Given the description of an element on the screen output the (x, y) to click on. 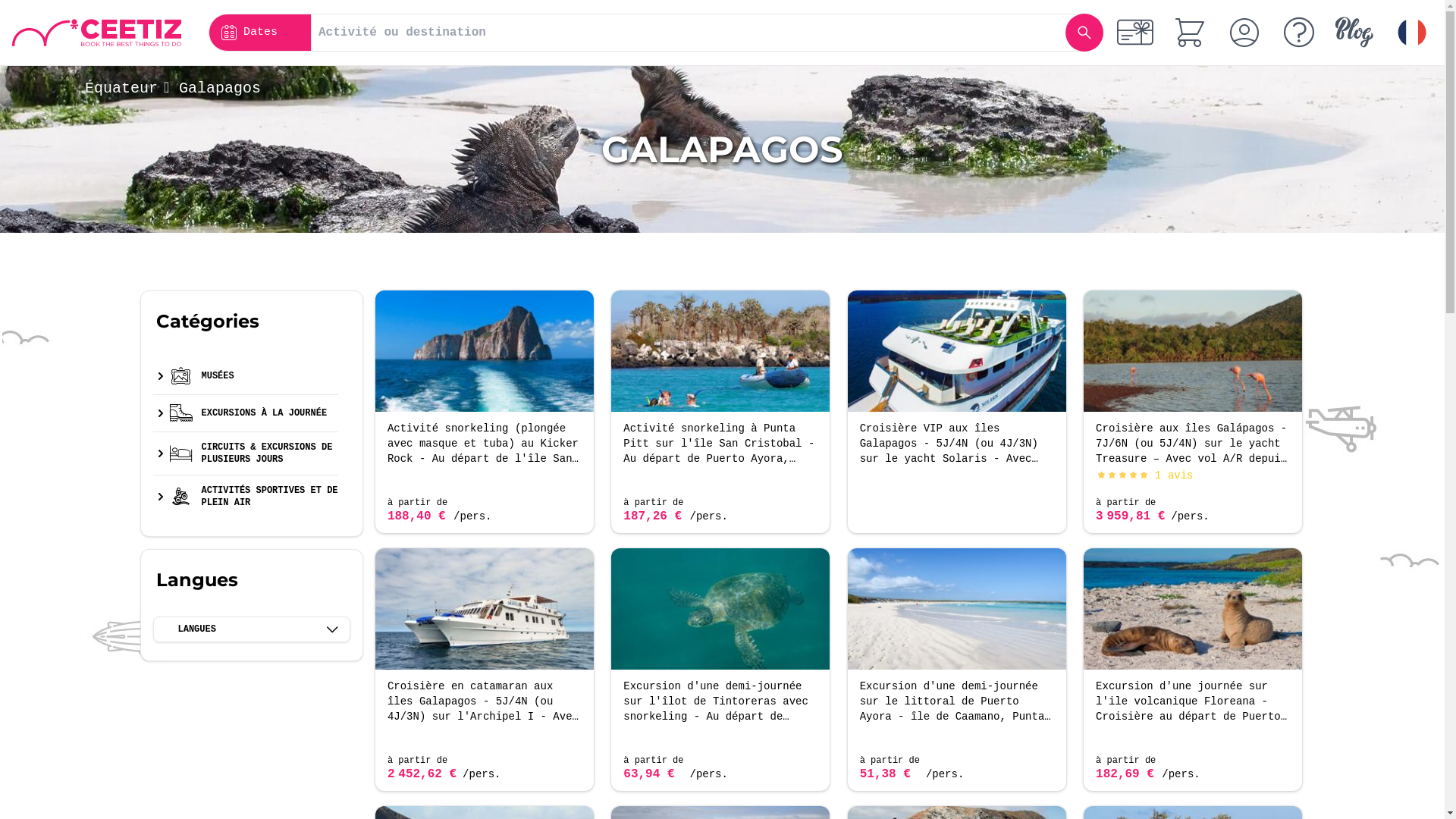
CIRCUITS & EXCURSIONS DE PLUSIEURS JOURS Element type: text (259, 453)
Galapagos Element type: text (219, 88)
